Given the description of an element on the screen output the (x, y) to click on. 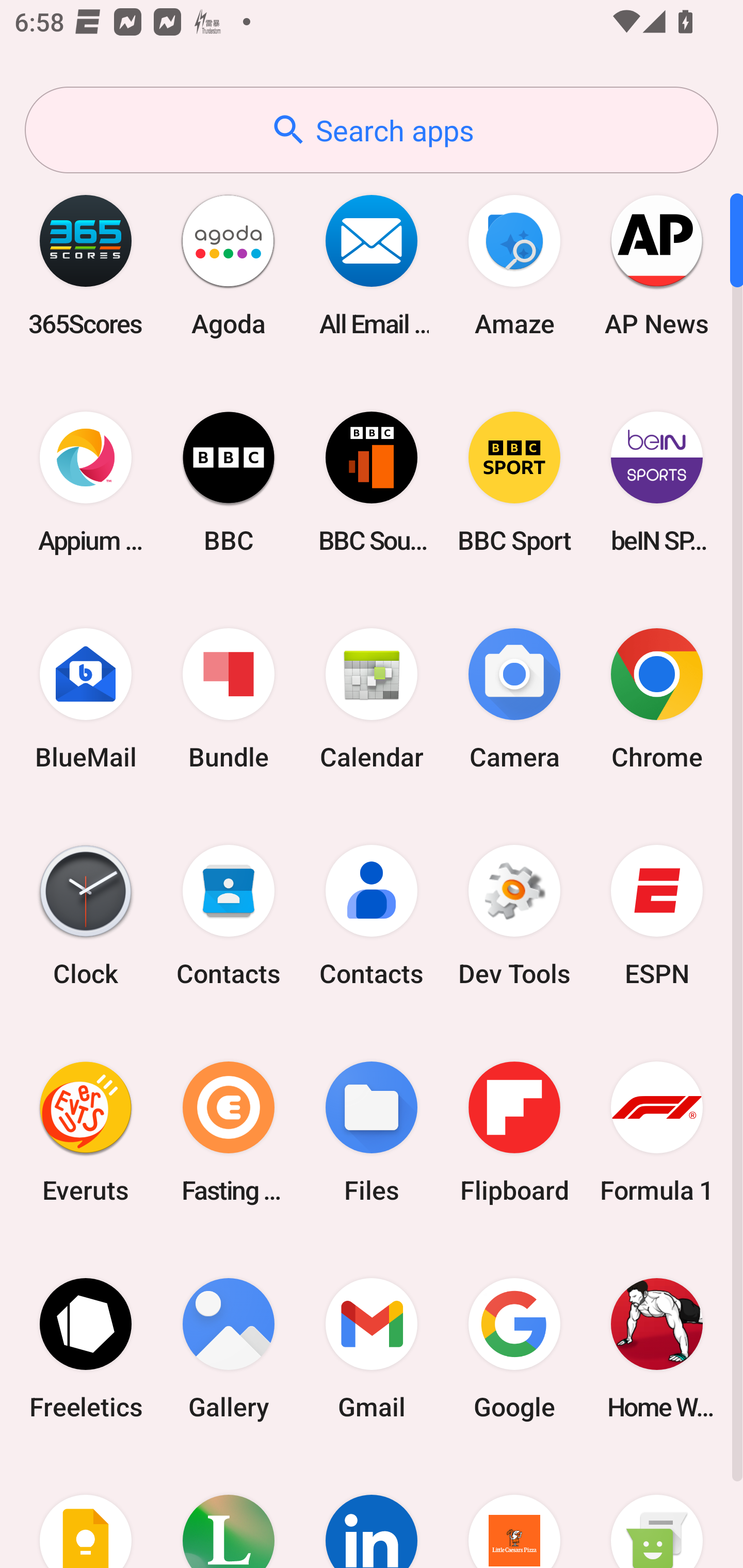
  Search apps (371, 130)
365Scores (85, 264)
Agoda (228, 264)
All Email Connect (371, 264)
Amaze (514, 264)
AP News (656, 264)
Appium Settings (85, 482)
BBC (228, 482)
BBC Sounds (371, 482)
BBC Sport (514, 482)
beIN SPORTS (656, 482)
BlueMail (85, 699)
Bundle (228, 699)
Calendar (371, 699)
Camera (514, 699)
Chrome (656, 699)
Clock (85, 915)
Contacts (228, 915)
Contacts (371, 915)
Dev Tools (514, 915)
ESPN (656, 915)
Everuts (85, 1131)
Fasting Coach (228, 1131)
Files (371, 1131)
Flipboard (514, 1131)
Formula 1 (656, 1131)
Freeletics (85, 1348)
Gallery (228, 1348)
Gmail (371, 1348)
Google (514, 1348)
Home Workout (656, 1348)
Keep Notes (85, 1512)
Lifesum (228, 1512)
LinkedIn (371, 1512)
Little Caesars Pizza (514, 1512)
Messaging (656, 1512)
